Given the description of an element on the screen output the (x, y) to click on. 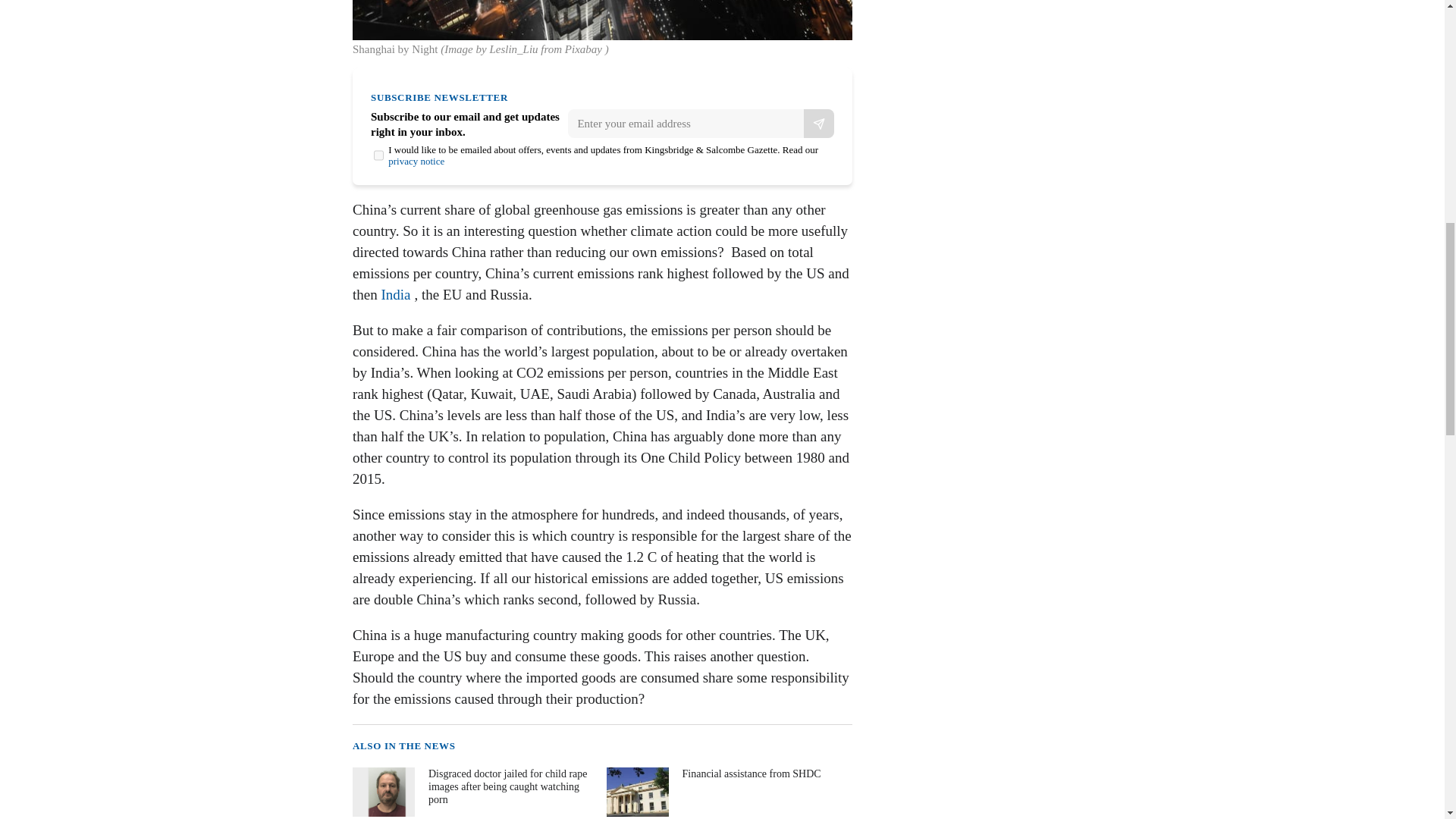
India (395, 294)
privacy notice (416, 161)
Financial assistance from SHDC (727, 791)
